Given the description of an element on the screen output the (x, y) to click on. 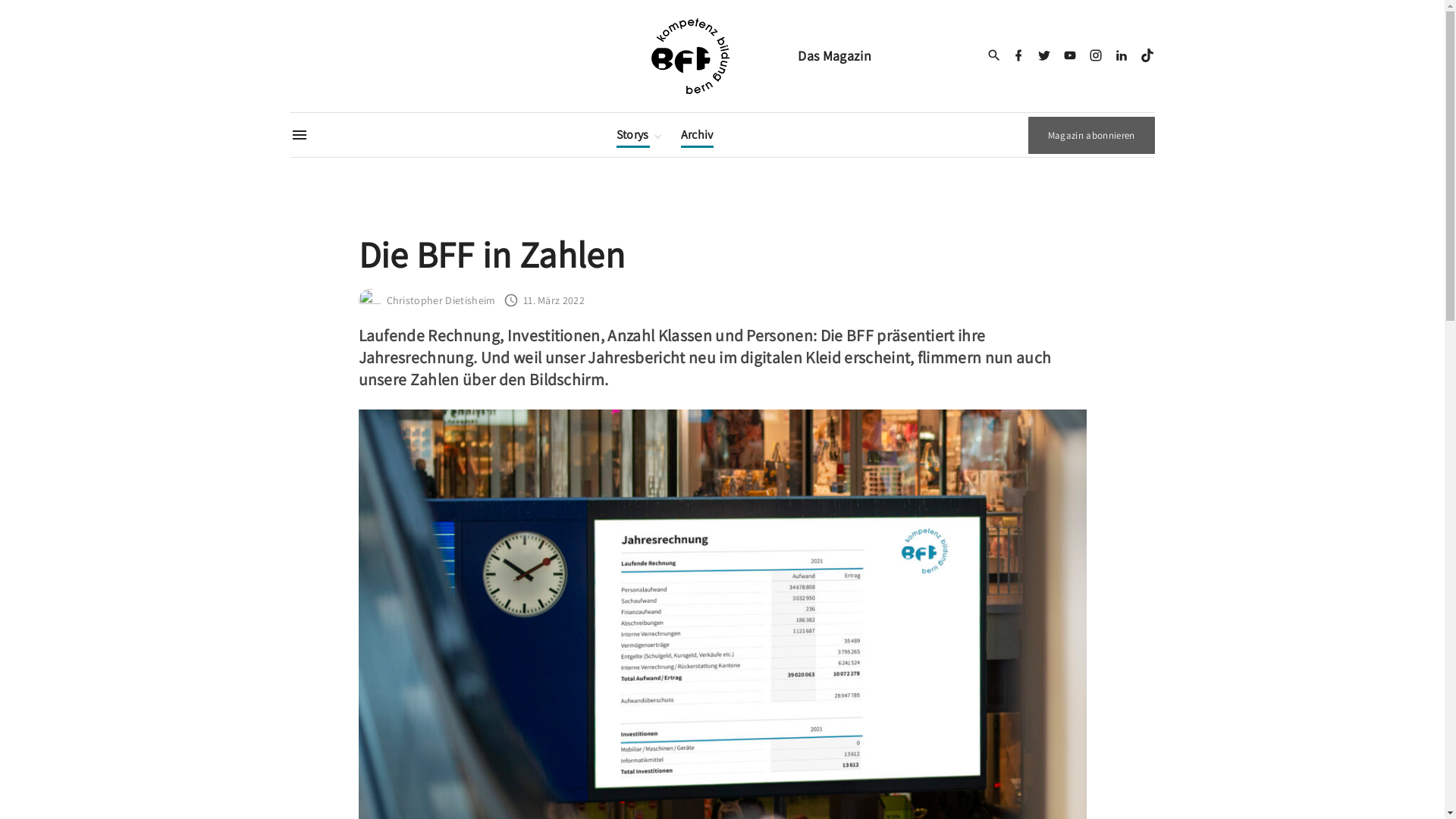
Storys Element type: text (633, 134)
facebook Element type: text (1018, 56)
youtube Element type: text (1069, 56)
instagram Element type: text (1095, 56)
Archiv Element type: text (696, 134)
twitter Element type: text (1044, 56)
Das Magazin Element type: text (721, 56)
tiktok Element type: text (1147, 56)
Christopher Dietisheim Element type: text (440, 300)
linkedin Element type: text (1121, 56)
Magazin abonnieren Element type: text (1091, 134)
